Given the description of an element on the screen output the (x, y) to click on. 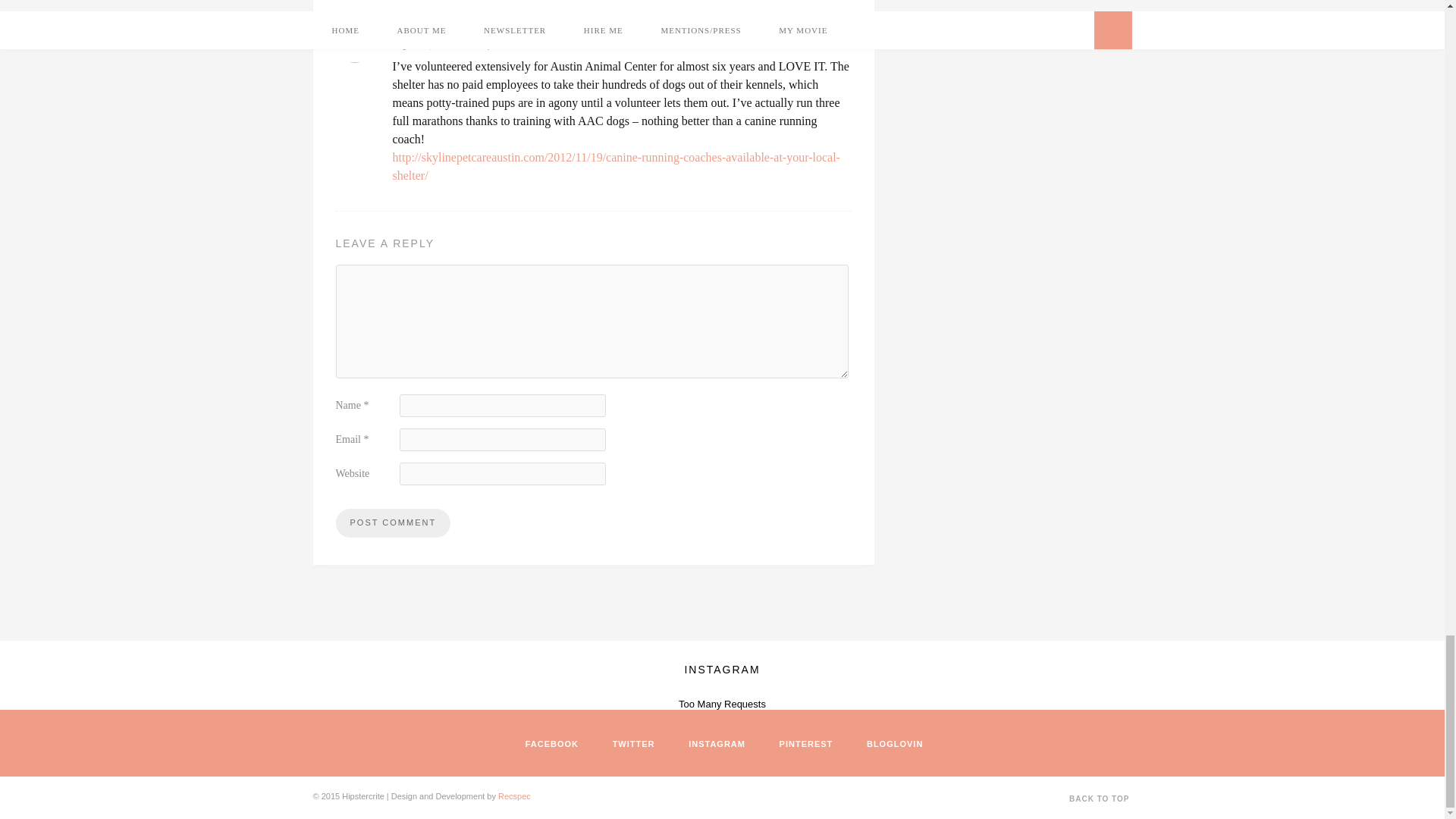
Post Comment (391, 522)
